Given the description of an element on the screen output the (x, y) to click on. 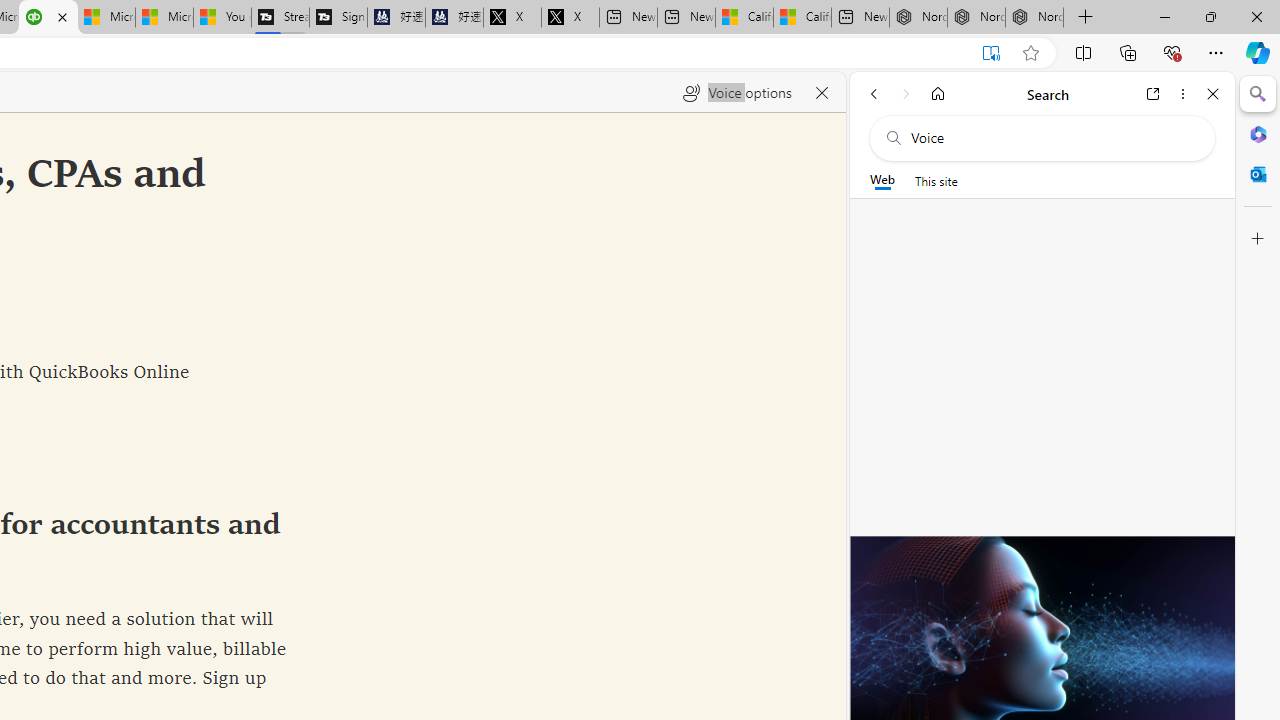
Nordace Siena Pro 15 Backpack (976, 17)
Close read aloud (821, 92)
This site scope (936, 180)
Exit Immersive Reader (F9) (991, 53)
